Given the description of an element on the screen output the (x, y) to click on. 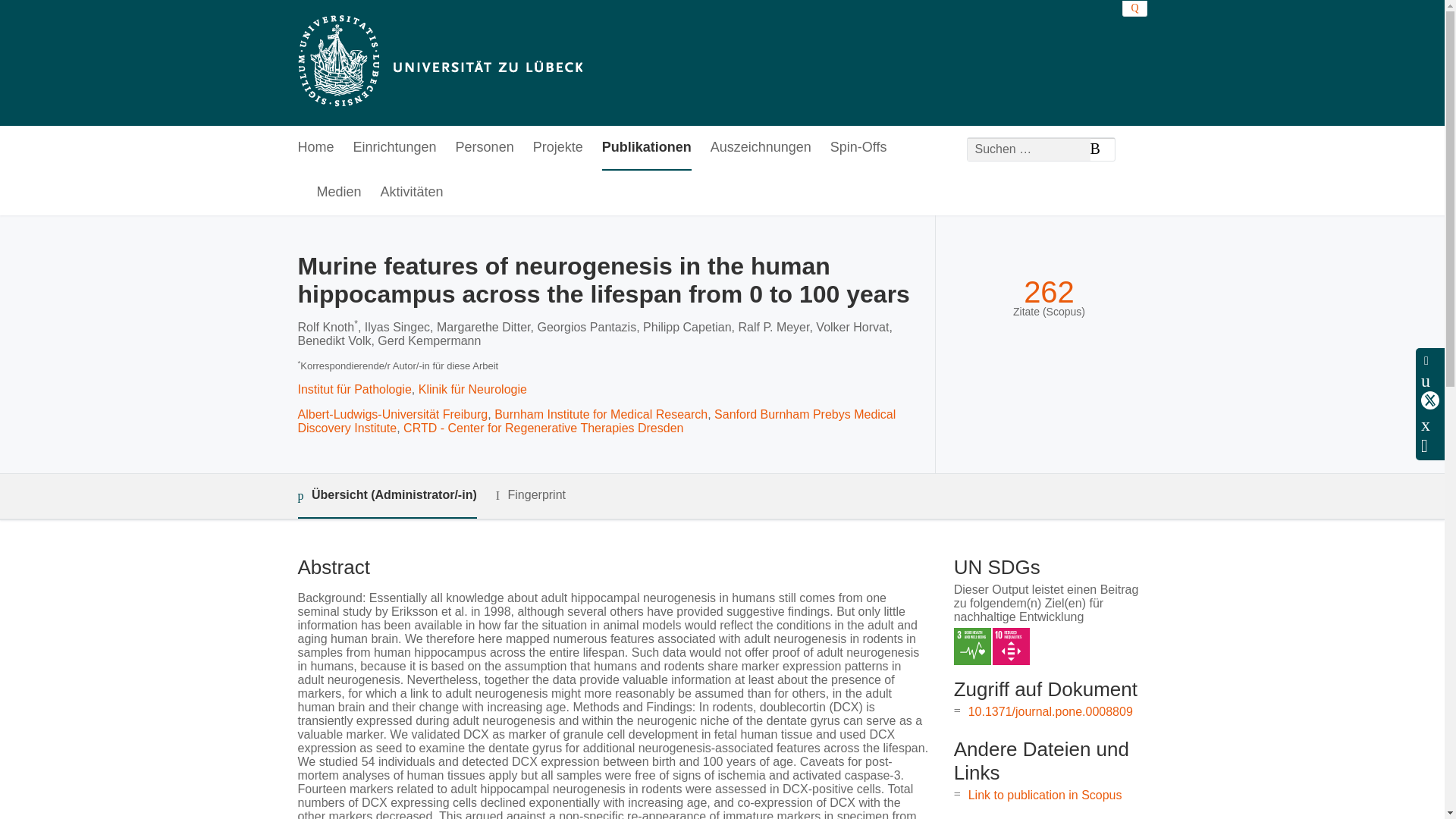
Sanford Burnham Prebys Medical Discovery Institute (596, 420)
Publikationen (646, 148)
Spin-Offs (857, 148)
262 (1048, 292)
Link to publication in Scopus (1045, 794)
Burnham Institute for Medical Research (601, 413)
CRTD - Center for Regenerative Therapies Dresden (542, 427)
Einrichtungen (394, 148)
Fingerprint (531, 495)
Medien (339, 192)
Auszeichnungen (760, 148)
Projekte (557, 148)
Personen (484, 148)
